Given the description of an element on the screen output the (x, y) to click on. 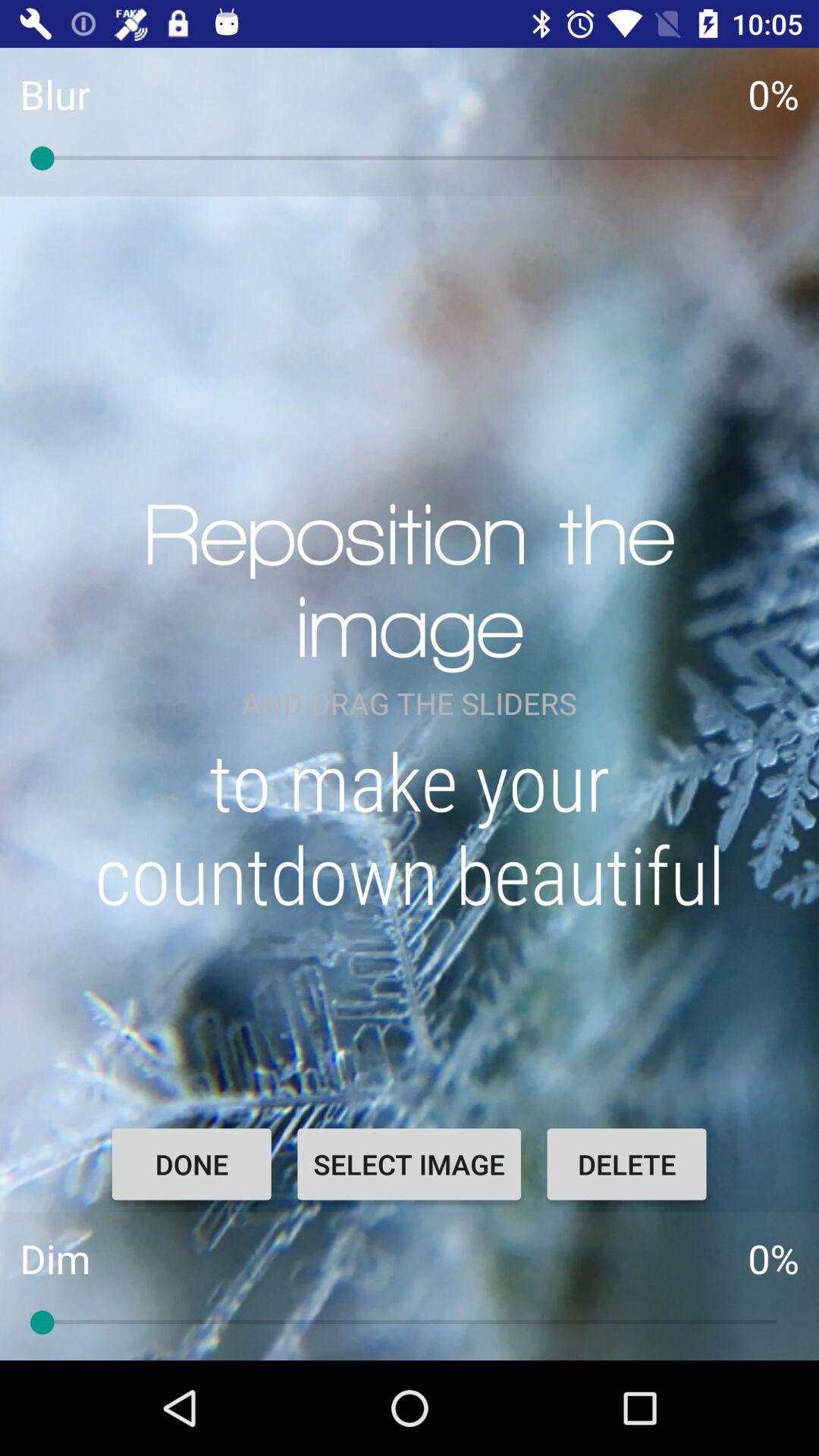
turn on the done item (191, 1164)
